Given the description of an element on the screen output the (x, y) to click on. 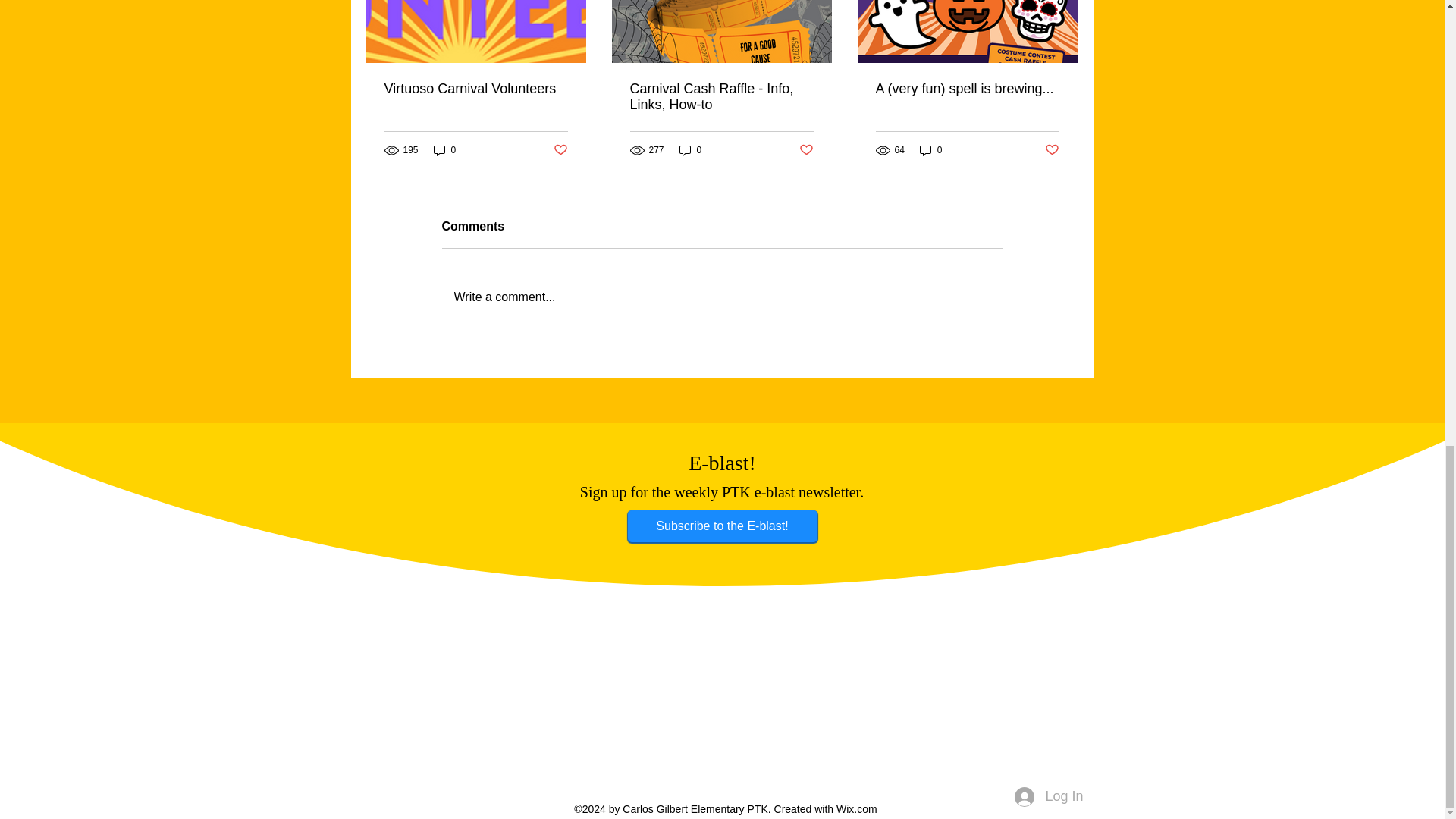
0 (930, 150)
Post not marked as liked (806, 150)
0 (445, 150)
Post not marked as liked (1052, 150)
0 (690, 150)
Write a comment... (722, 297)
Virtuoso Carnival Volunteers (475, 89)
Post not marked as liked (560, 150)
Carnival Cash Raffle - Info, Links, How-to (720, 97)
